Given the description of an element on the screen output the (x, y) to click on. 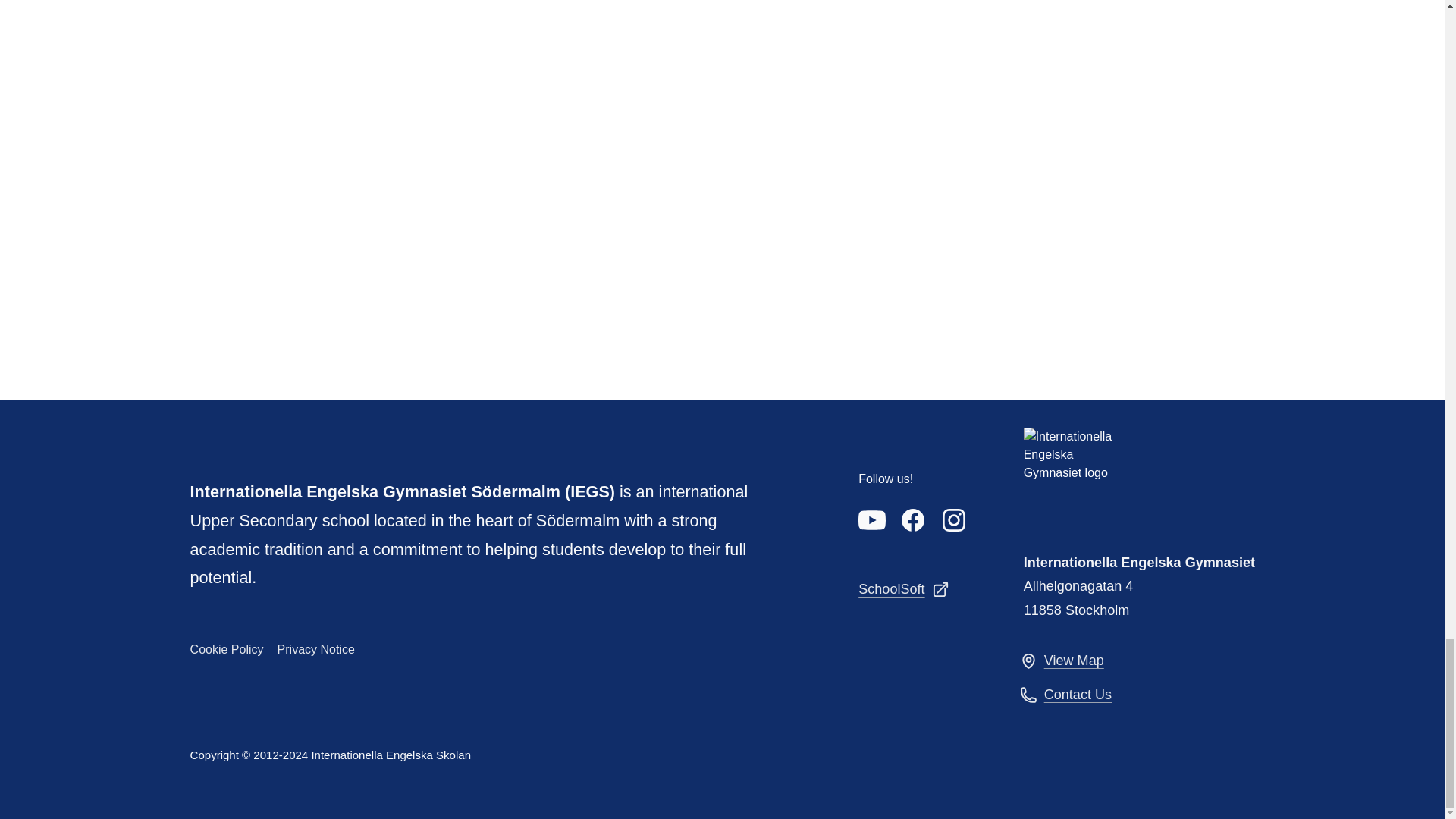
Cookie Policy (226, 649)
View Map (1132, 660)
Privacy Notice (316, 649)
SchoolSoft (913, 589)
Contact Us (1132, 694)
